Given the description of an element on the screen output the (x, y) to click on. 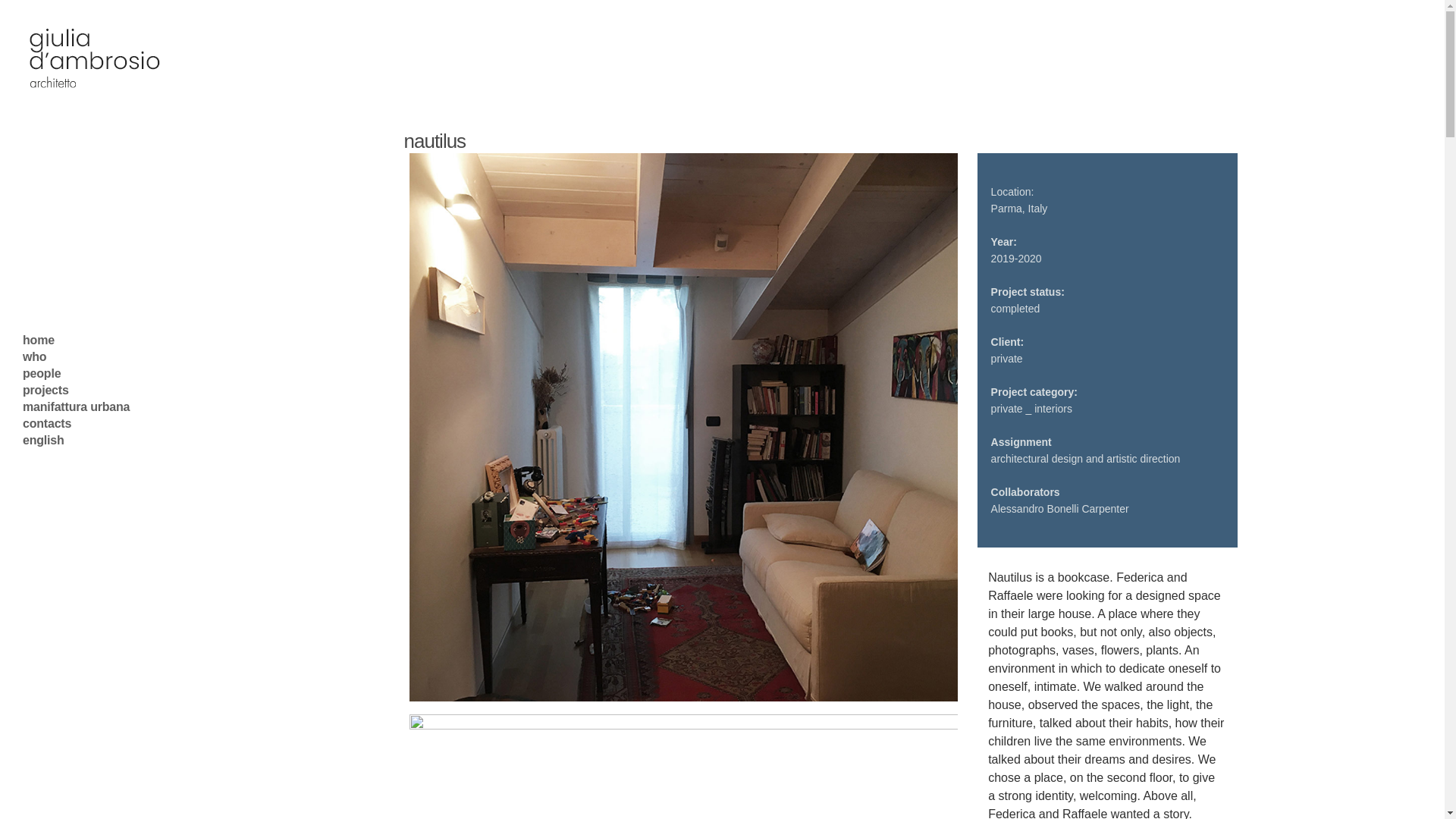
manifattura urbana (98, 406)
English (98, 440)
english (98, 440)
who (98, 356)
people (98, 340)
projects (98, 373)
contacts (98, 390)
